Given the description of an element on the screen output the (x, y) to click on. 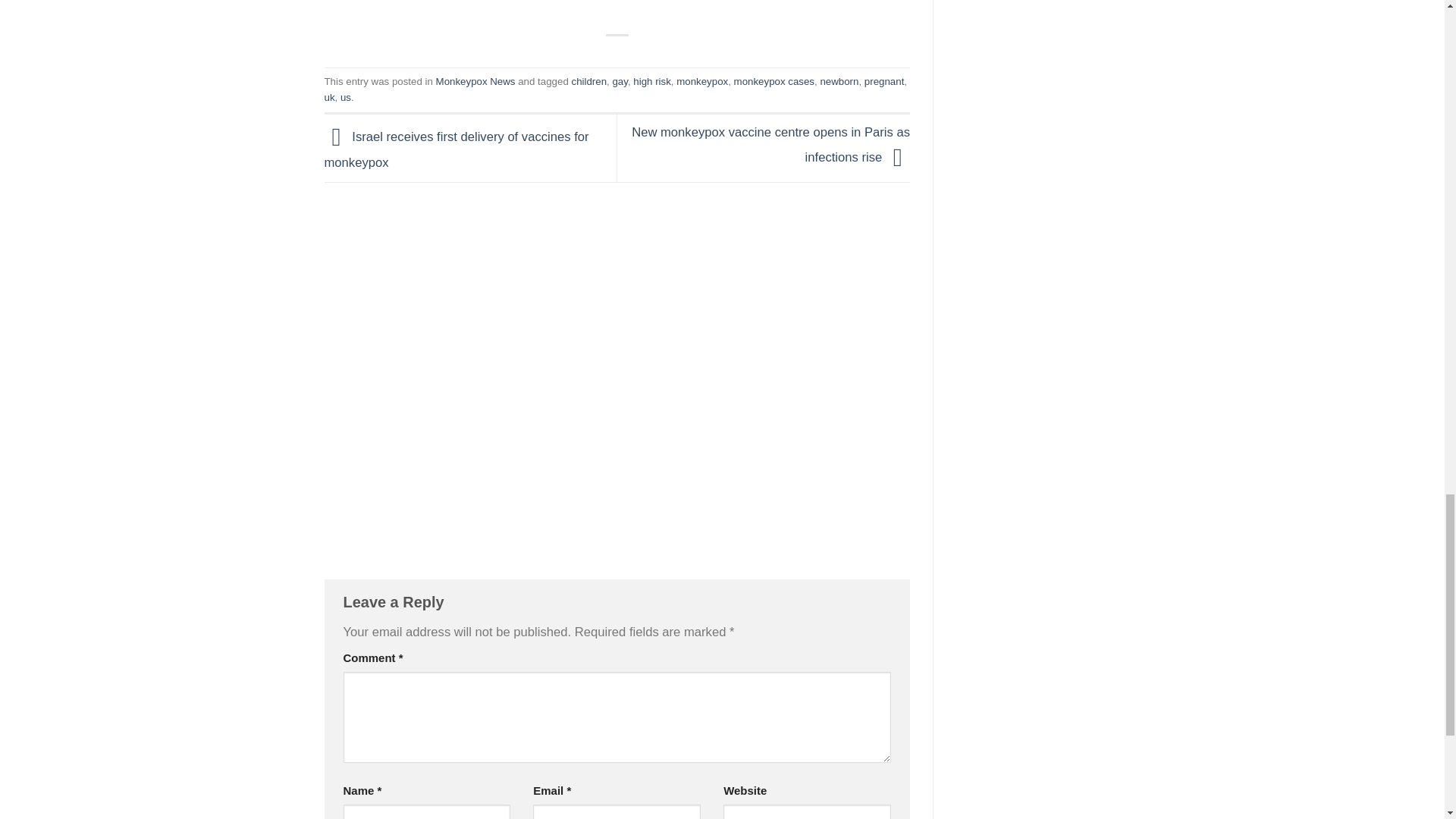
newborn (839, 81)
Israel receives first delivery of vaccines for monkeypox (456, 150)
Monkeypox News (475, 81)
gay (619, 81)
us (345, 97)
high risk (652, 81)
pregnant (884, 81)
children (588, 81)
uk (329, 97)
monkeypox (702, 81)
